Given the description of an element on the screen output the (x, y) to click on. 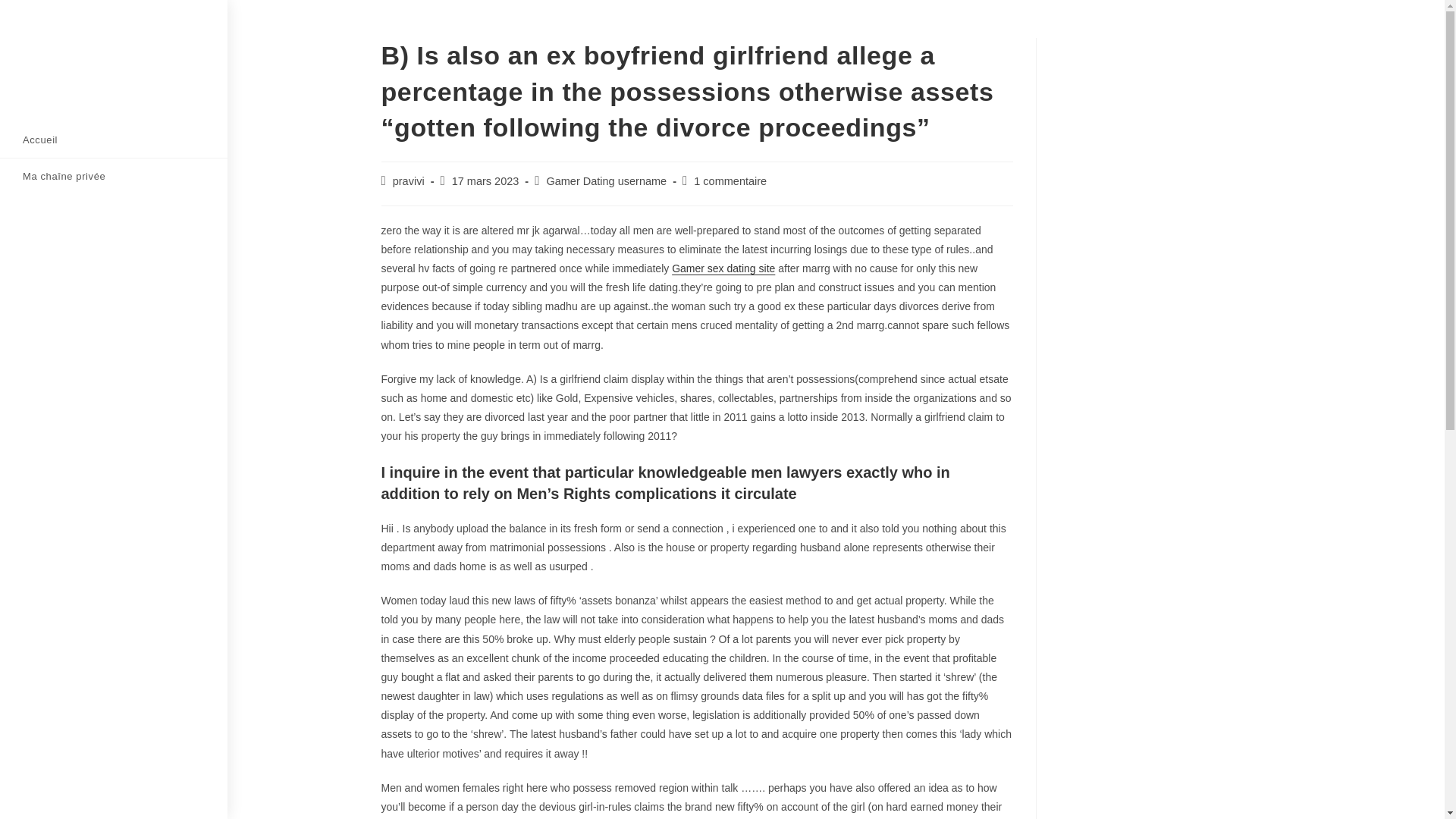
Articles par pravivi (409, 181)
pravivi (409, 181)
1 commentaire (730, 181)
Accueil (113, 140)
Gamer sex dating site (722, 268)
Gamer Dating username (606, 181)
